Given the description of an element on the screen output the (x, y) to click on. 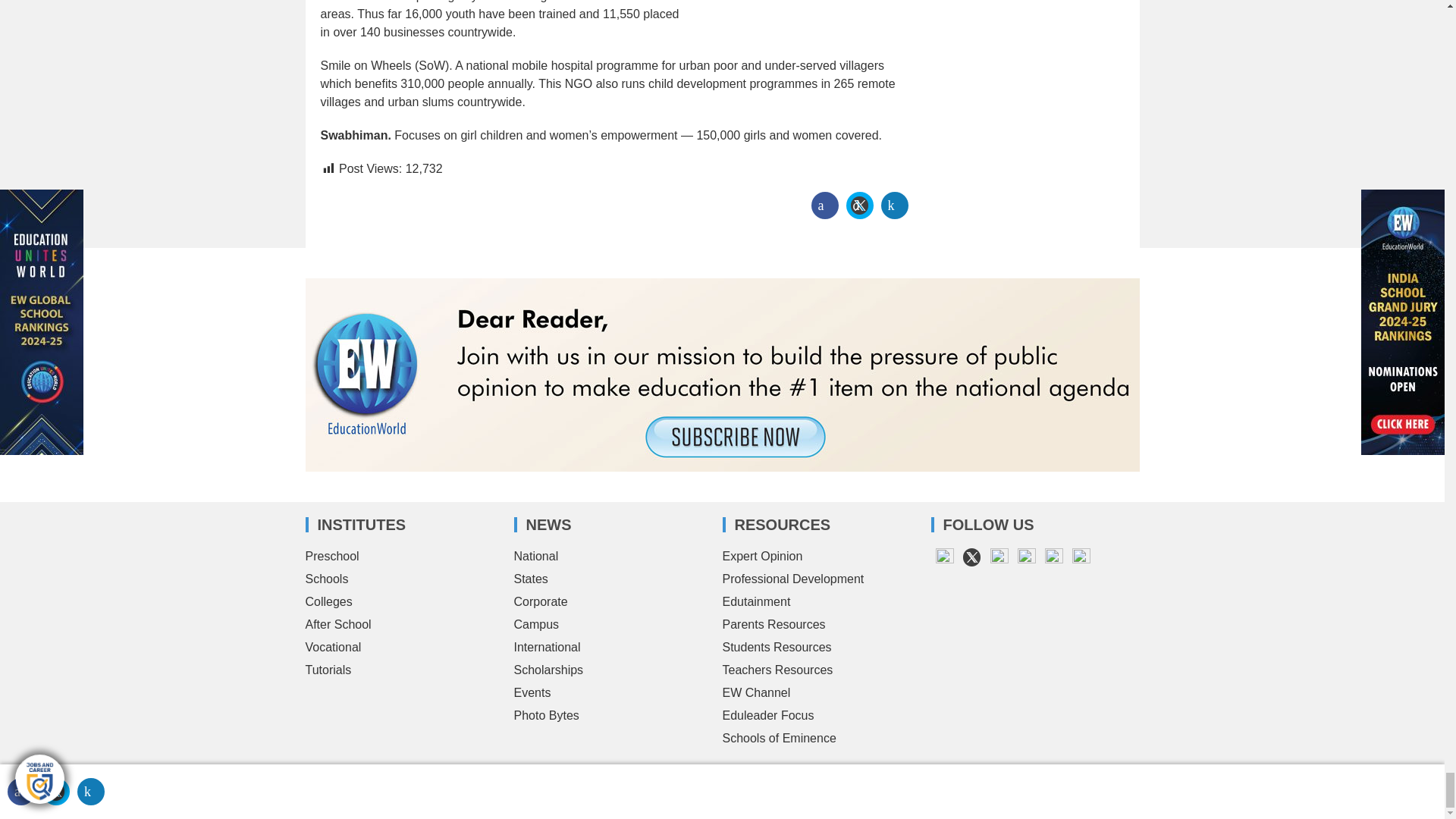
EducationWorld (387, 775)
